Given the description of an element on the screen output the (x, y) to click on. 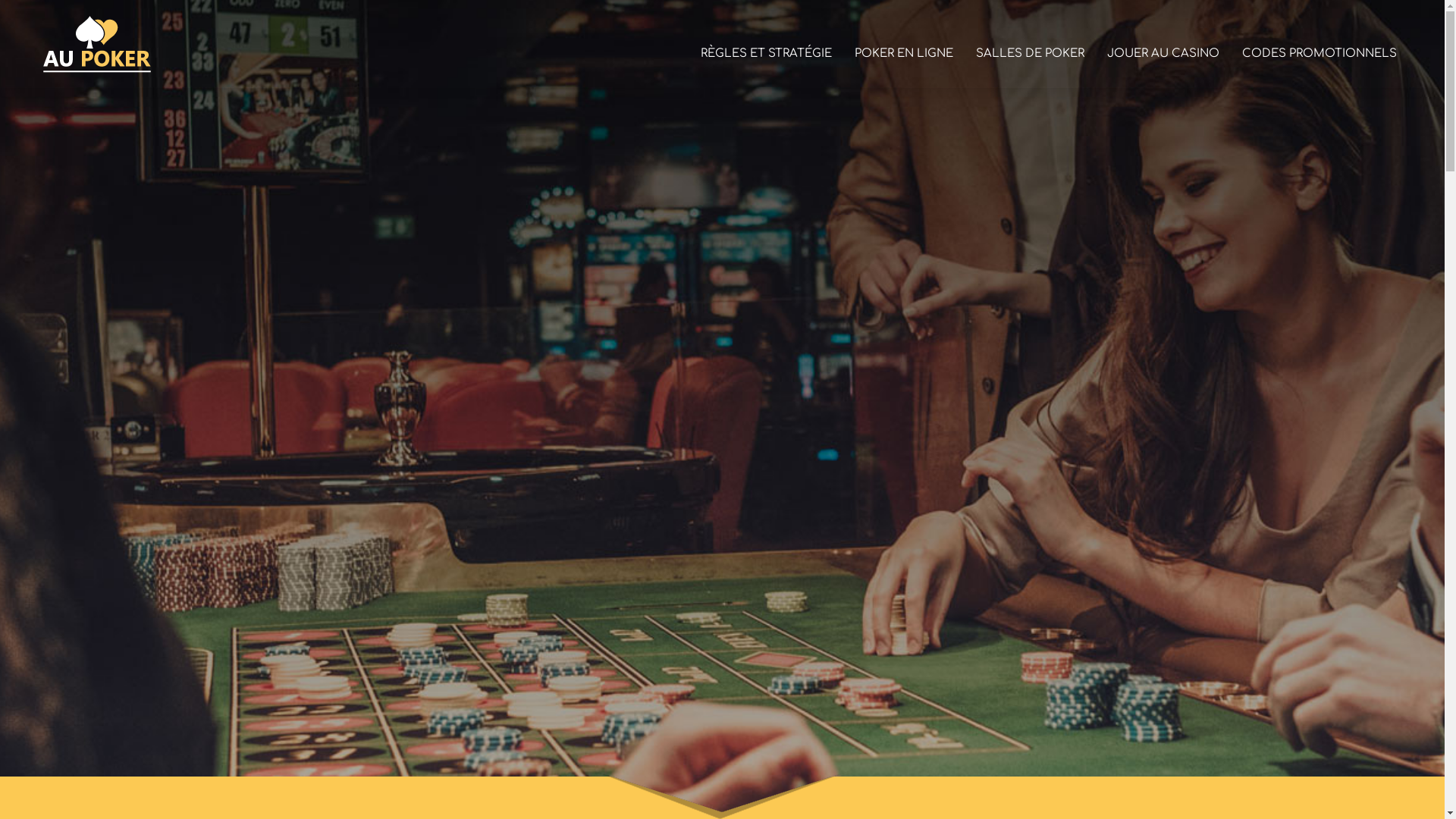
CODES PROMOTIONNELS Element type: text (1319, 43)
JOUER AU CASINO Element type: text (1163, 43)
POKER EN LIGNE Element type: text (903, 43)
SALLES DE POKER Element type: text (1029, 43)
